Given the description of an element on the screen output the (x, y) to click on. 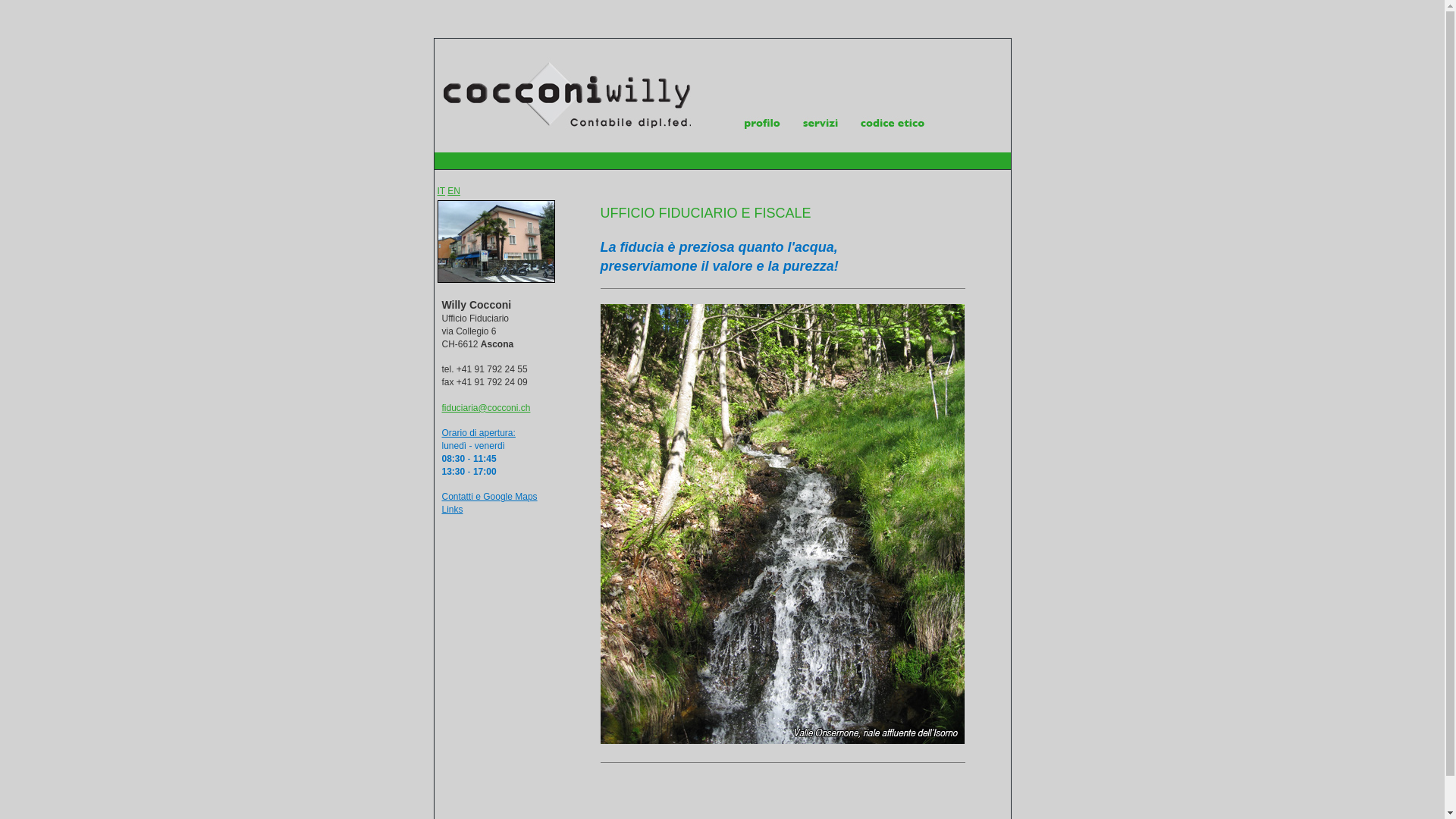
fiduciaria@cocconi.ch Element type: text (485, 407)
Links Element type: text (451, 509)
IT Element type: text (440, 190)
Contatti e Google Maps Element type: text (488, 496)
EN Element type: text (453, 190)
